Given the description of an element on the screen output the (x, y) to click on. 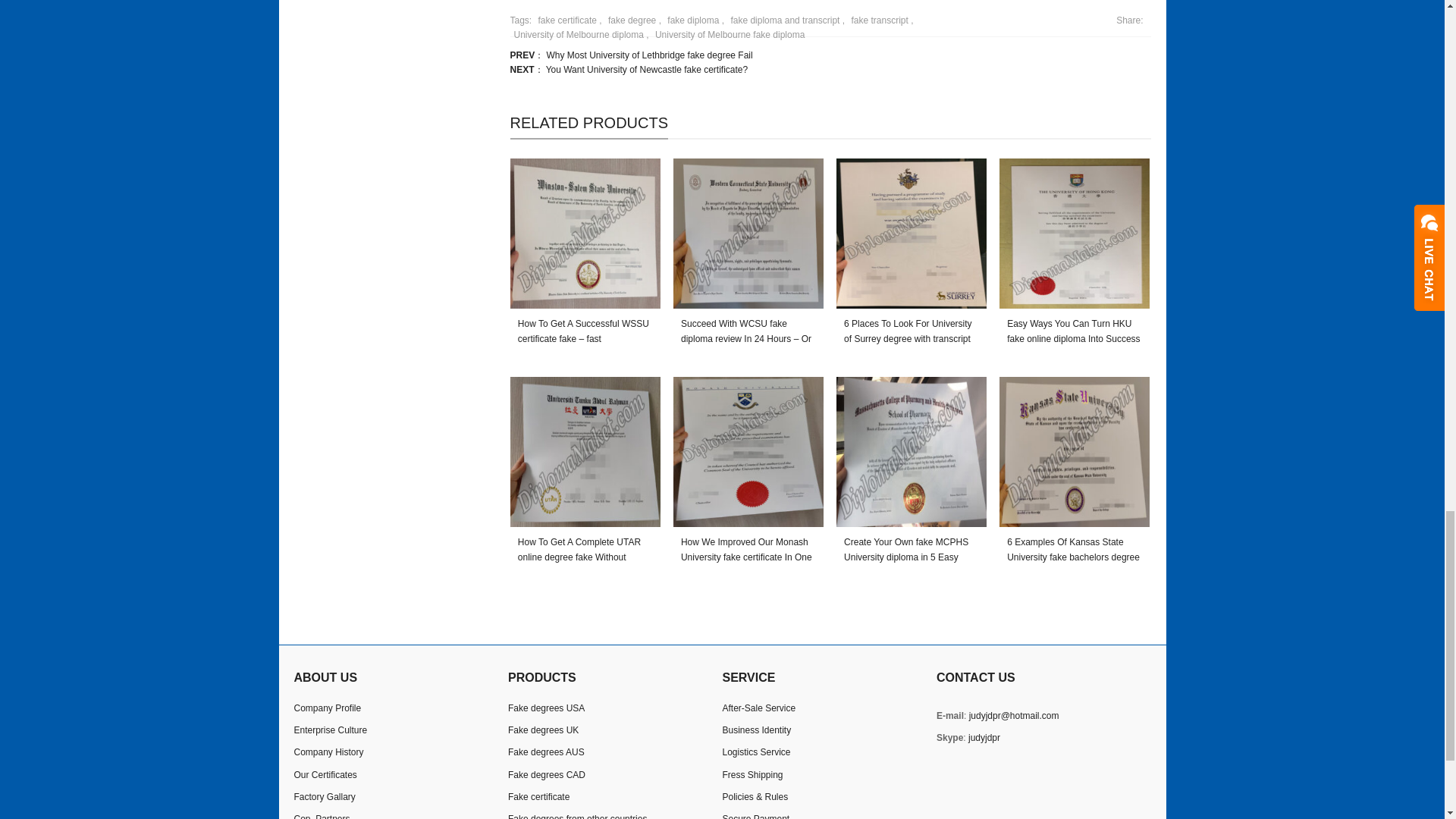
You Want University of Newcastle fake certificate? (647, 69)
fake diploma (691, 20)
fake degree (630, 20)
How To Get A Successful WSSU certificate fake - fast (586, 233)
6 Examples Of Kansas State University fake bachelors degree (1074, 451)
Easy Ways You Can Turn HKU fake online diploma Into Success (1074, 233)
